Given the description of an element on the screen output the (x, y) to click on. 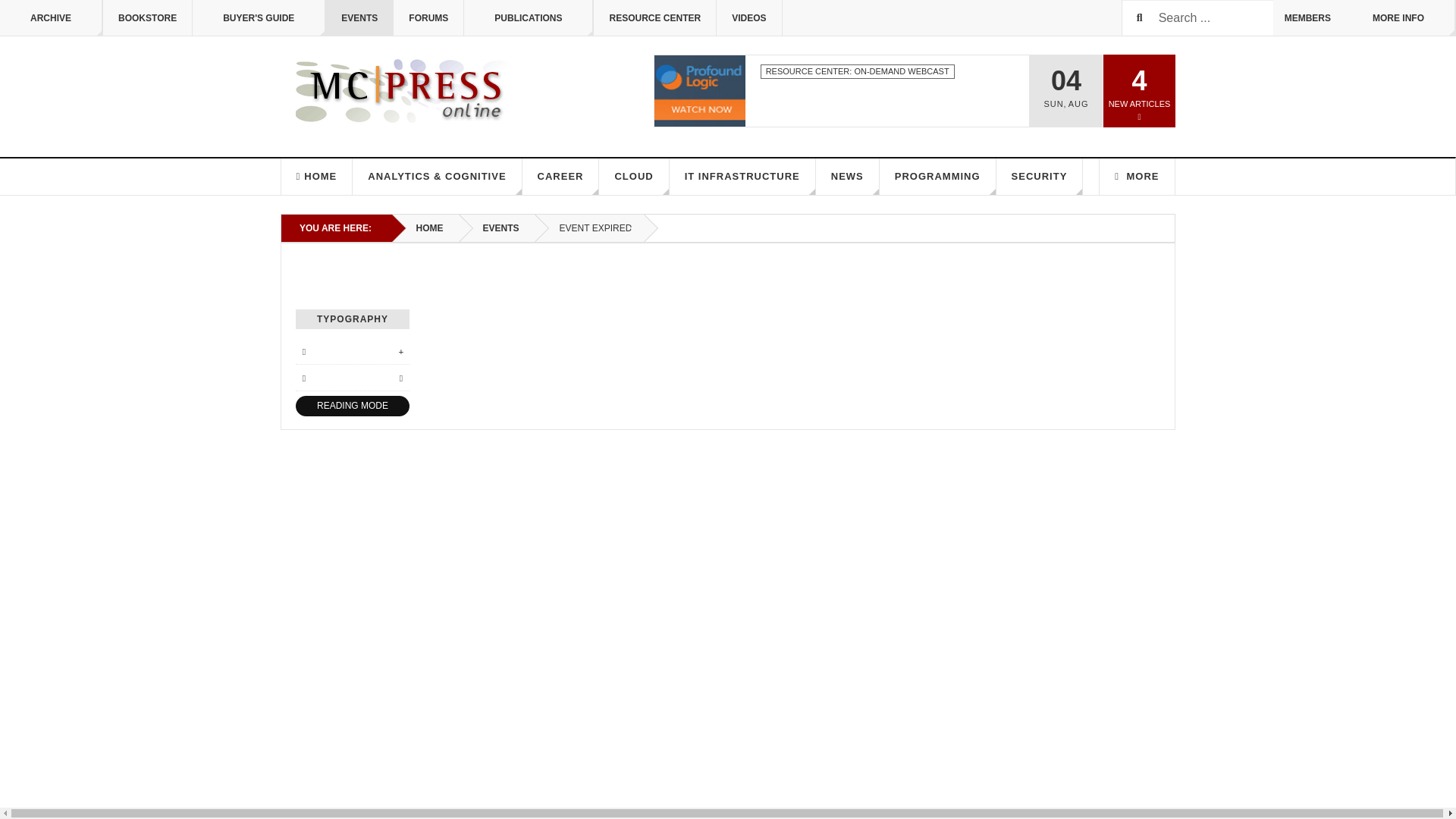
Category:  (857, 71)
MC Press Online (405, 90)
Search ... (1196, 18)
Search ... (1196, 18)
BOOKSTORE (147, 18)
